Given the description of an element on the screen output the (x, y) to click on. 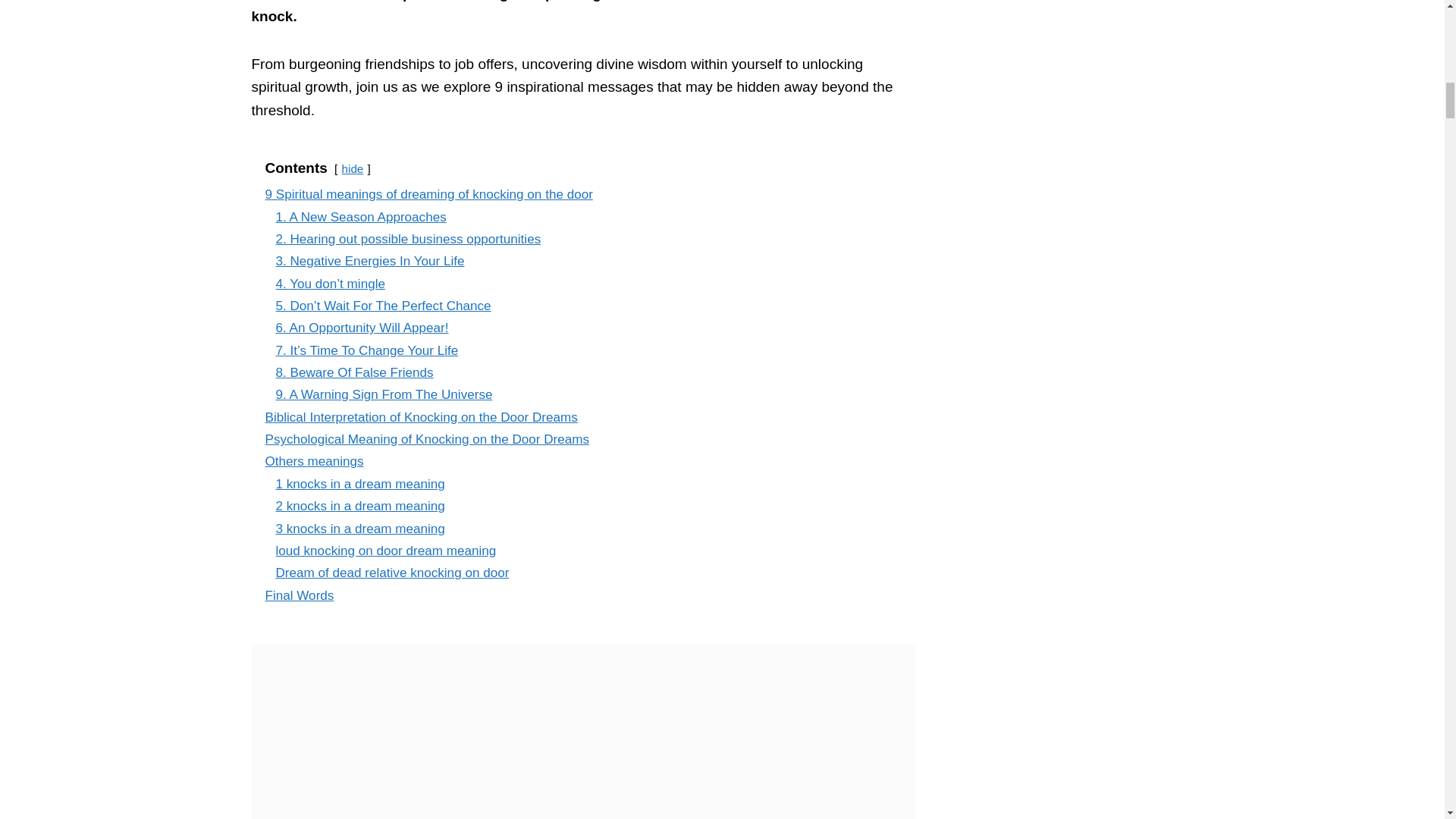
3 knocks in a dream meaning (360, 528)
8. Beware Of False Friends (354, 372)
3. Negative Energies In Your Life (370, 260)
Final Words (299, 595)
2. Hearing out possible business opportunities (408, 238)
Biblical Interpretation of Knocking on the Door Dreams (421, 417)
hide (353, 168)
2 knocks in a dream meaning (360, 505)
1 knocks in a dream meaning (360, 483)
loud knocking on door dream meaning (386, 550)
